Given the description of an element on the screen output the (x, y) to click on. 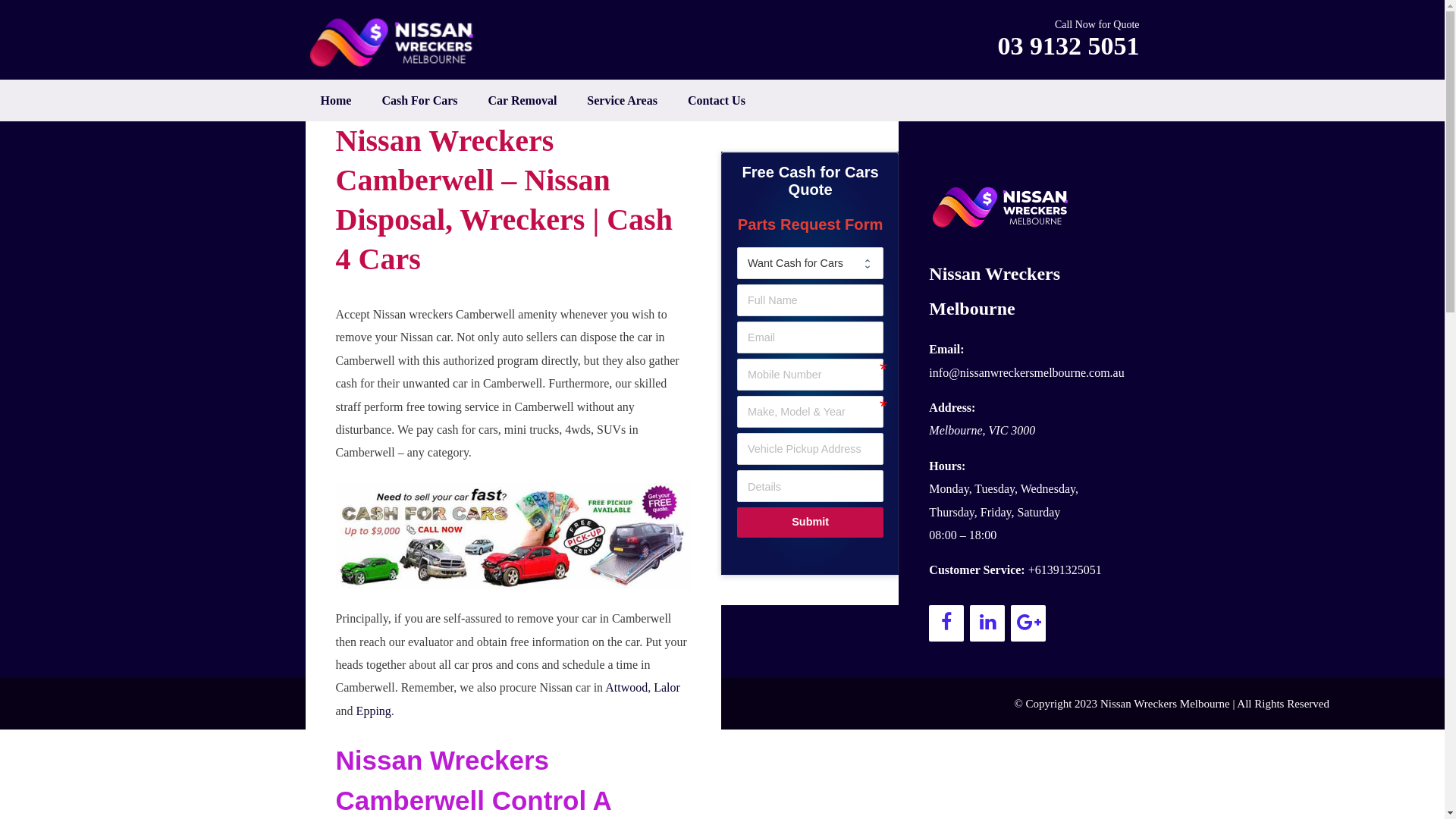
Nissan Wreckers Melbourne Element type: hover (395, 41)
Epping Element type: text (373, 710)
Nissan Wreckers Melbourne Element type: text (994, 290)
Contact Us Element type: text (716, 100)
Lalor Element type: text (666, 686)
Car Removal Element type: text (522, 100)
Cash For Cars Element type: text (419, 100)
Home Element type: text (335, 100)
info@nissanwreckersmelbourne.com.au Element type: text (1025, 372)
Attwood Element type: text (626, 686)
Facebook Element type: hover (945, 623)
+61391325051 Element type: text (1064, 569)
Submit Element type: text (810, 522)
Service Areas Element type: text (621, 100)
LinkedIn Element type: hover (986, 623)
Nissan Wreckers Melbourne Element type: hover (395, 43)
Google+ Element type: hover (1027, 623)
Nissan Wreckers Melbourne Element type: text (1165, 703)
03 9132 5051 Element type: text (1068, 45)
